Given the description of an element on the screen output the (x, y) to click on. 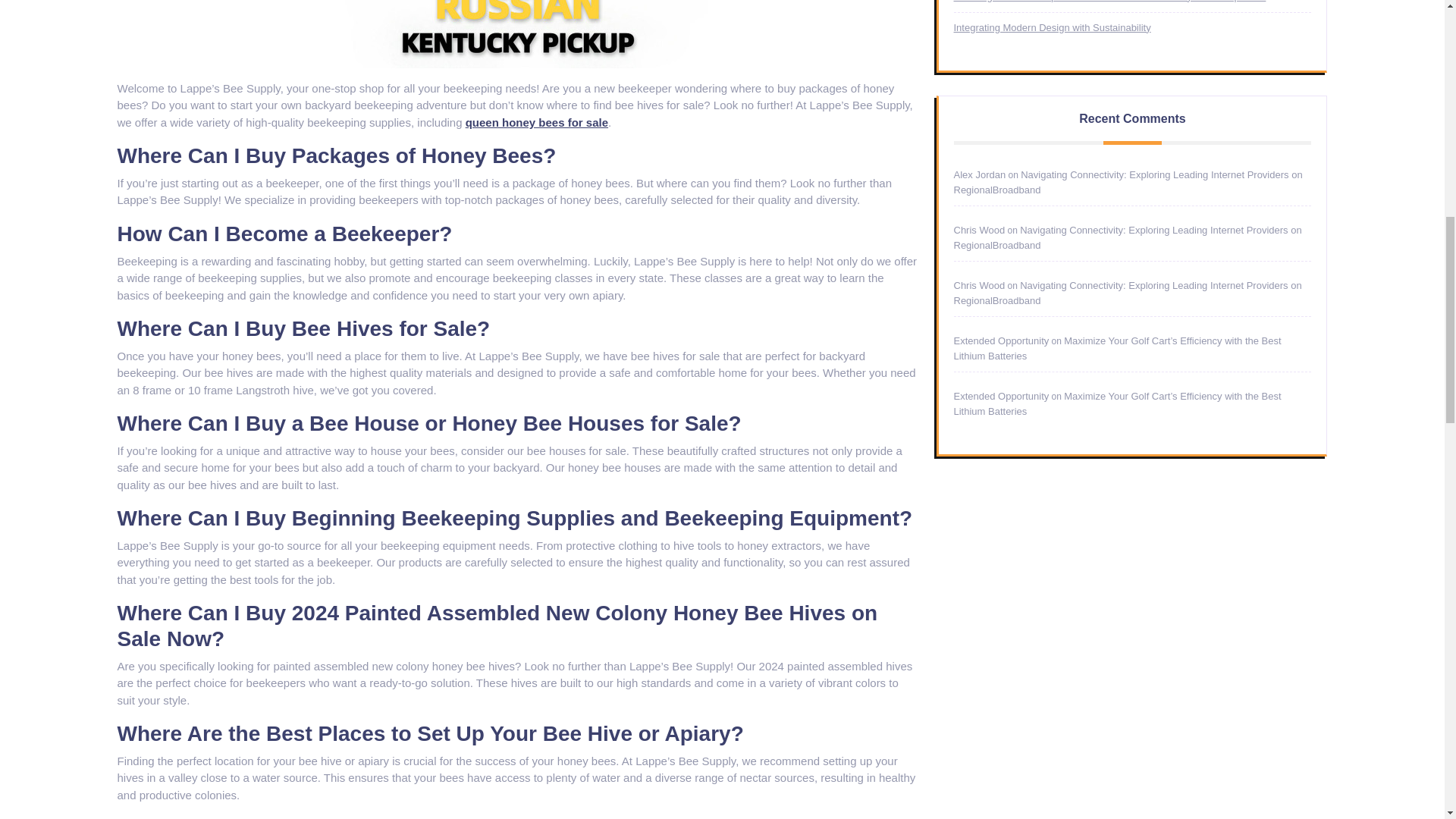
Integrating Modern Design with Sustainability (1052, 27)
queen honey bees for sale (536, 122)
